Given the description of an element on the screen output the (x, y) to click on. 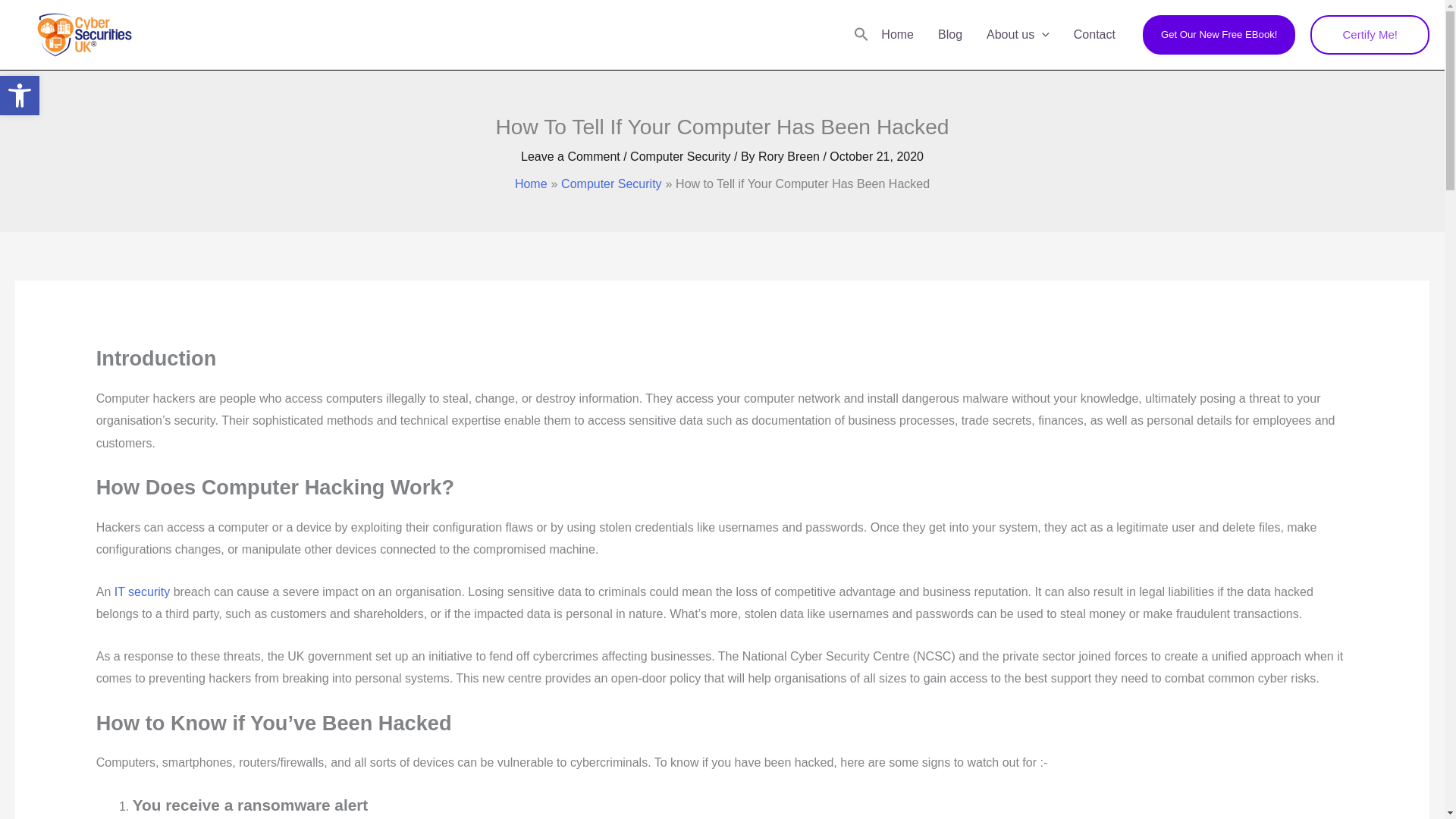
About us (1017, 34)
Accessibility Tools (19, 95)
View all posts by Rory Breen (19, 95)
Get Our New Free EBook! (790, 155)
Certify Me! (1218, 34)
Contact (1369, 34)
Accessibility Tools (1093, 34)
Home (19, 95)
